Given the description of an element on the screen output the (x, y) to click on. 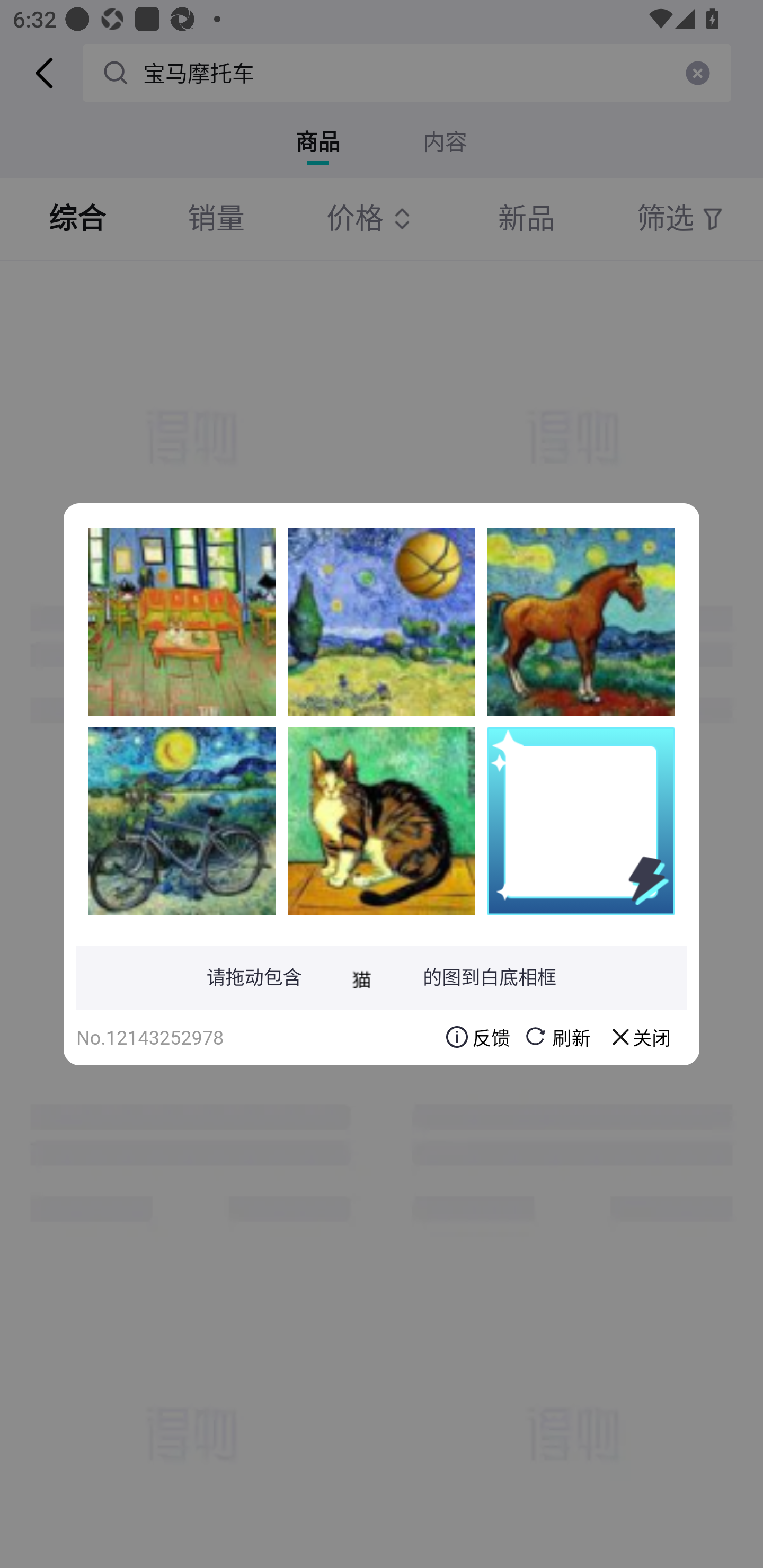
JEsu4+oDviEzriP2Jf7ObszP2Mg9zt25mlSmW (381, 621)
Qpz0EnazBIT8a+6RwjEM8UY (381, 820)
